Given the description of an element on the screen output the (x, y) to click on. 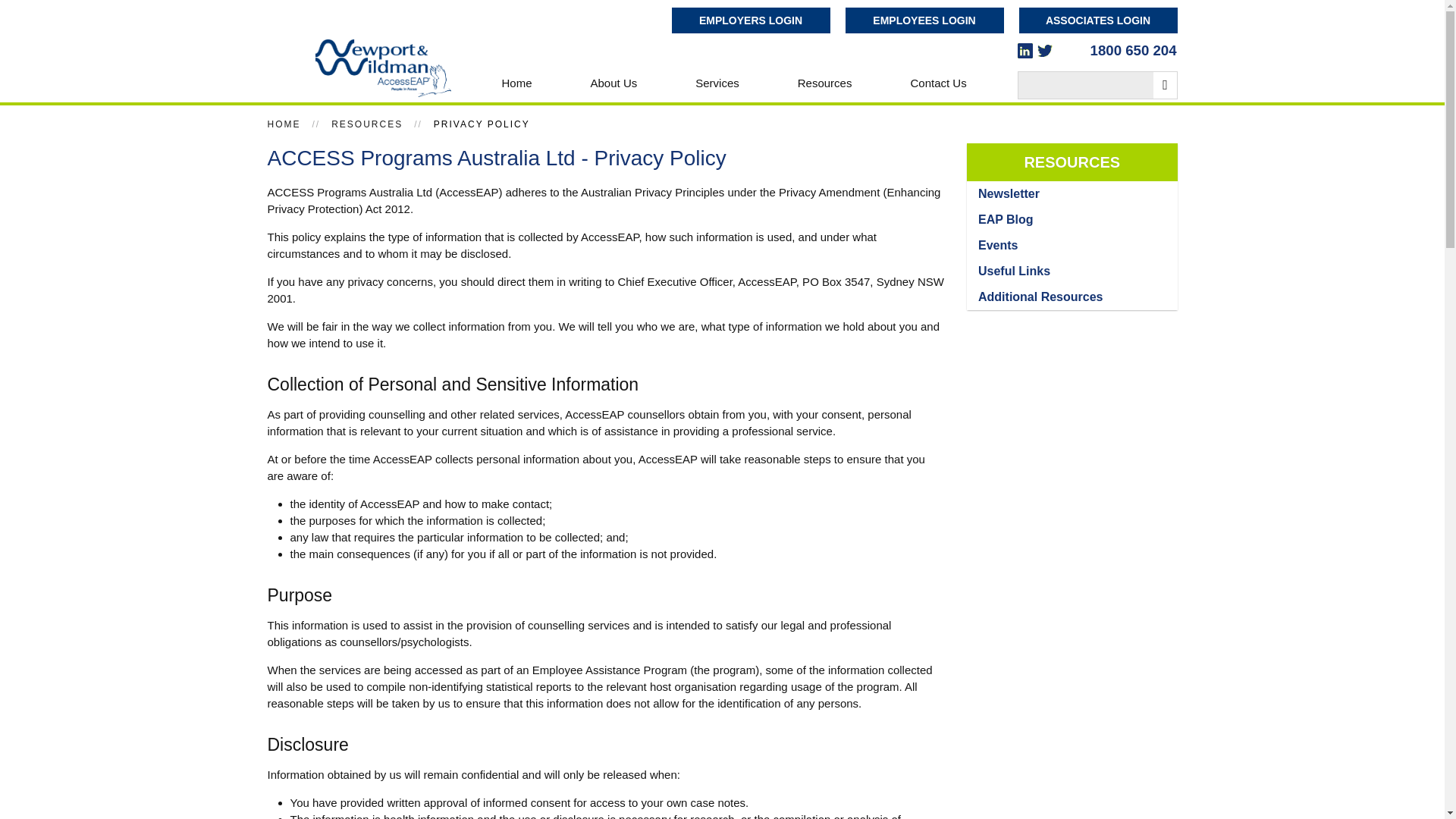
Events (997, 245)
Contact Us (938, 82)
Resources (824, 82)
Newsletter (1008, 193)
Useful Links (1013, 270)
EMPLOYEES LOGIN (923, 20)
RESOURCES (367, 124)
Services (717, 82)
HOME (282, 124)
About Us (614, 82)
Home (515, 82)
ASSOCIATES LOGIN (1098, 20)
EAP Blog (1005, 219)
1800 650 204 (1133, 50)
Additional Resources (1040, 296)
